Given the description of an element on the screen output the (x, y) to click on. 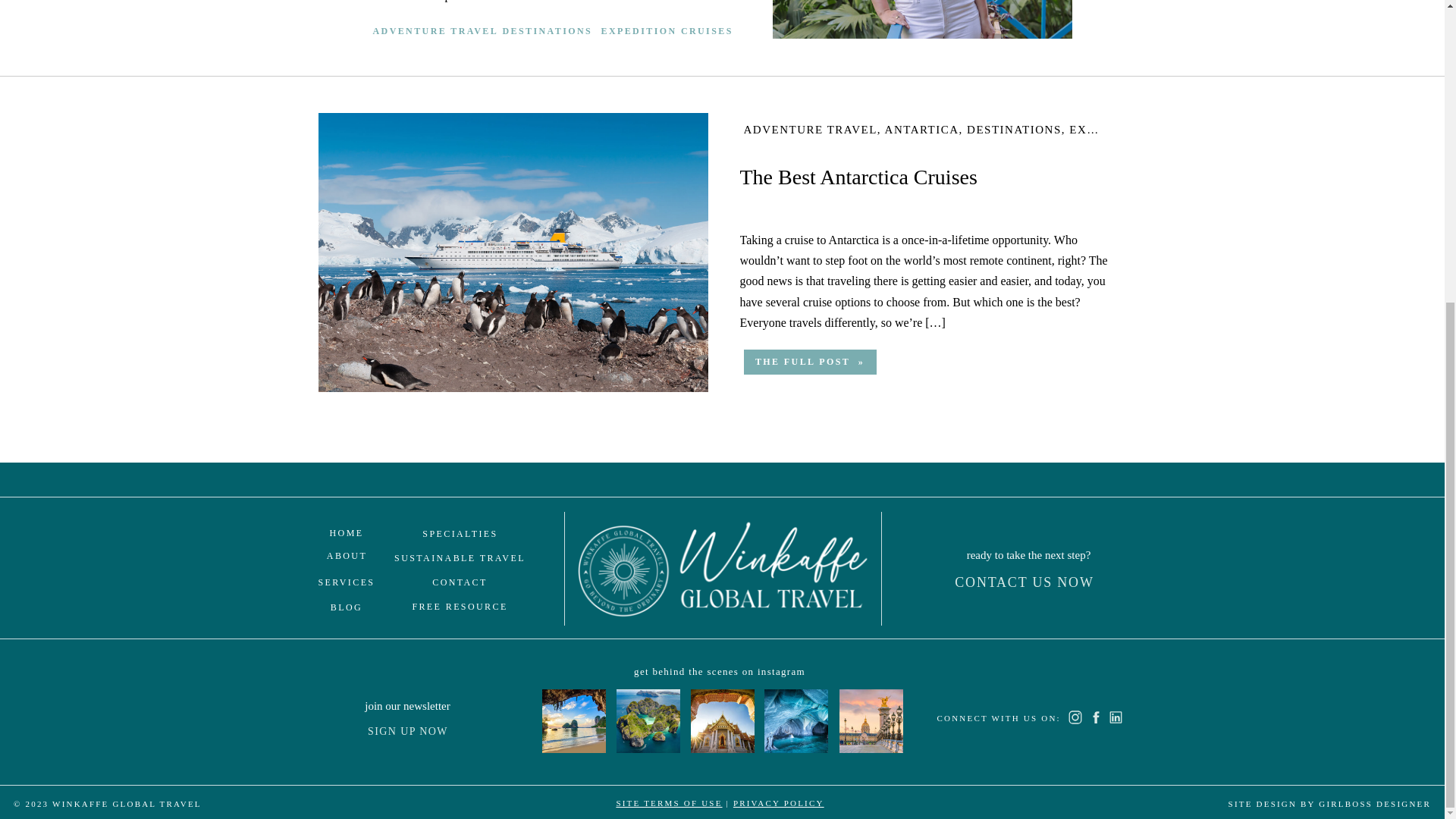
DESTINATIONS (1013, 129)
ADVENTURE TRAVEL (441, 33)
EXPEDITION CRUISES (667, 33)
ANTARTICA (922, 129)
The Best Antarctica Cruises (857, 177)
The Best Antarctica Cruises (810, 362)
ADVENTURE TRAVEL (809, 129)
The Best Antarctica Cruises (512, 252)
The Best Antarctica Cruises (809, 361)
DESTINATIONS (545, 33)
